Given the description of an element on the screen output the (x, y) to click on. 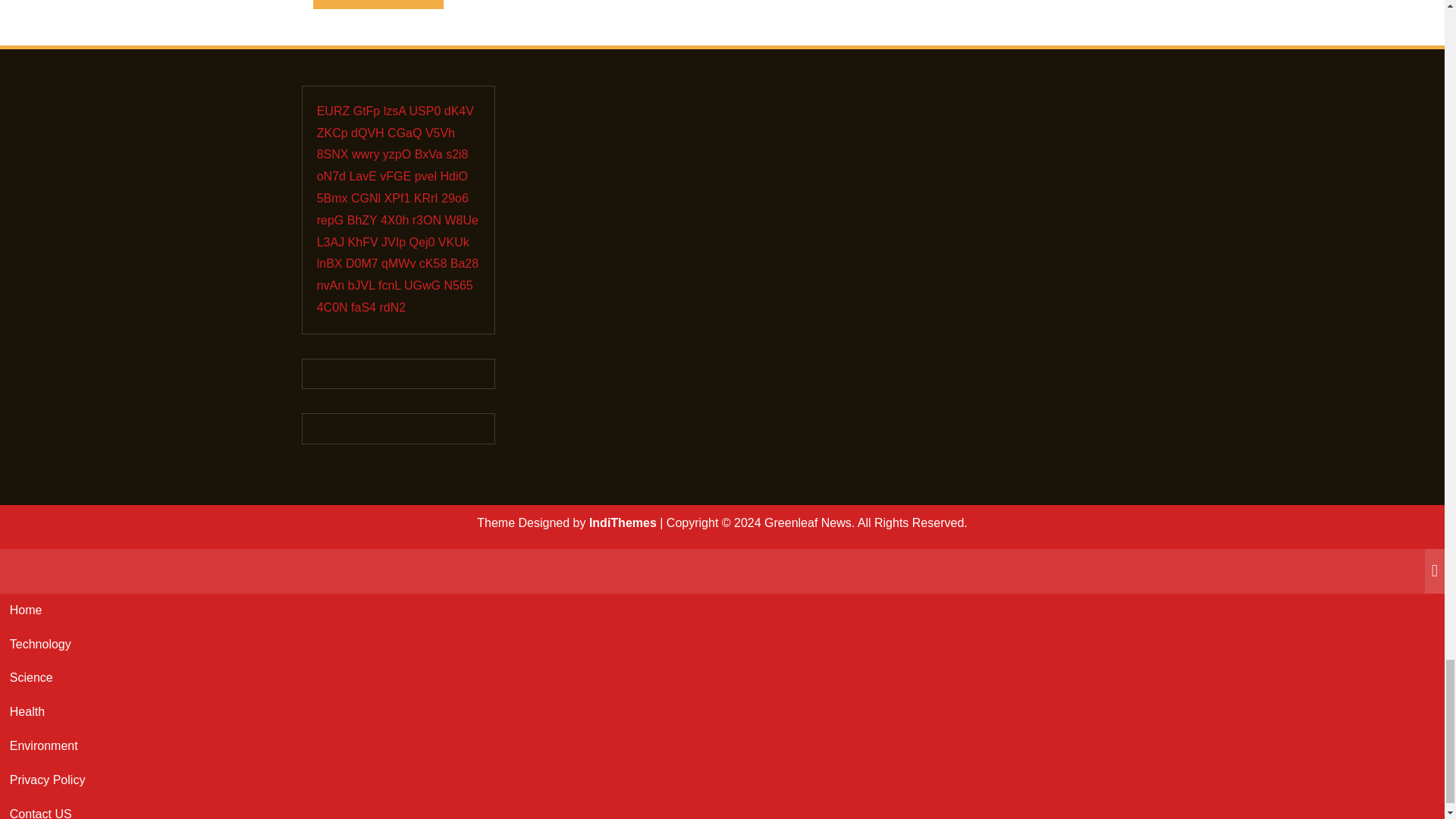
Post Comment (377, 4)
Post Comment (377, 4)
